Given the description of an element on the screen output the (x, y) to click on. 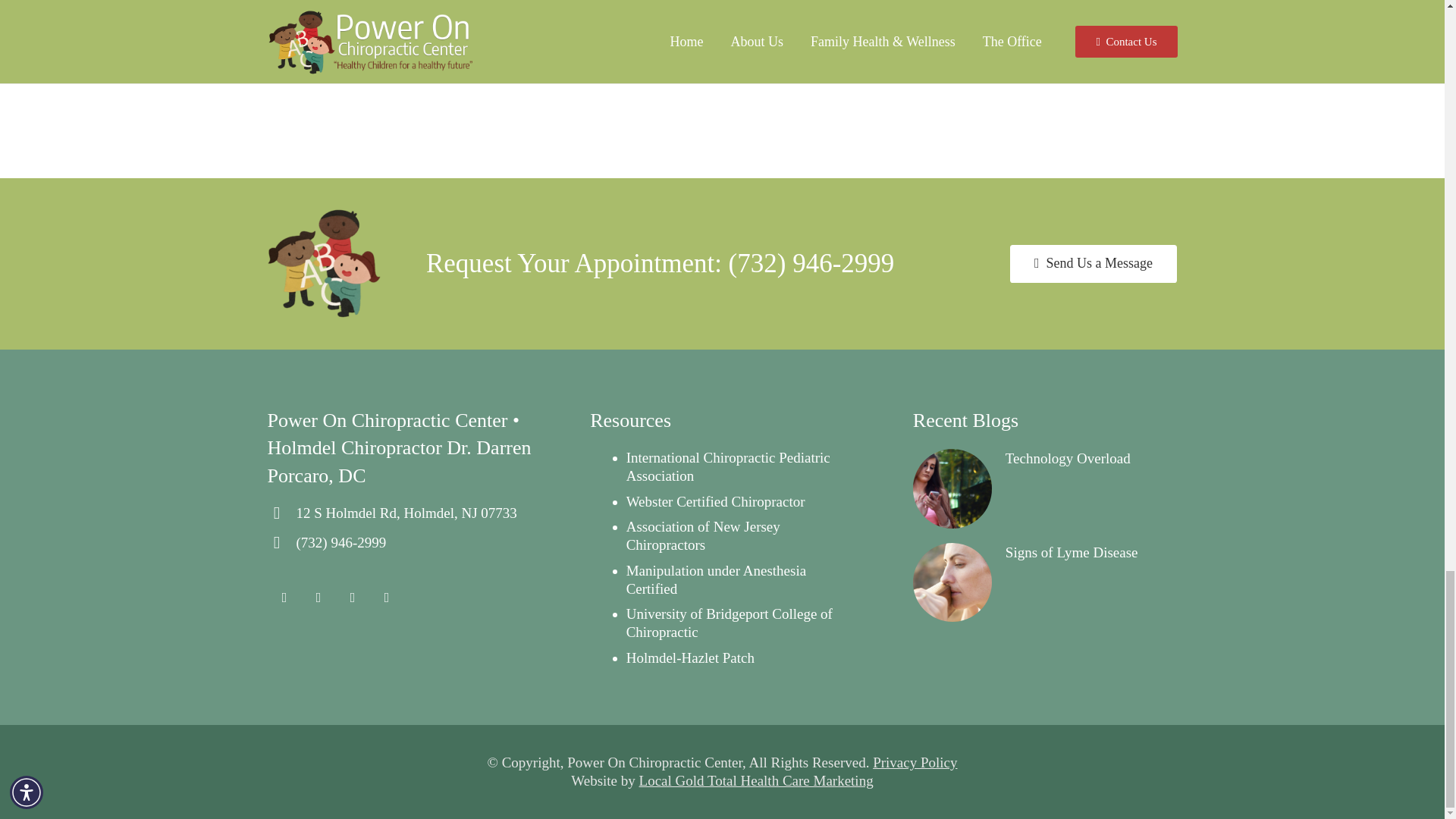
Yelp (386, 597)
Contact Us (1093, 263)
Google (351, 597)
Email (283, 597)
Facebook (318, 597)
